Given the description of an element on the screen output the (x, y) to click on. 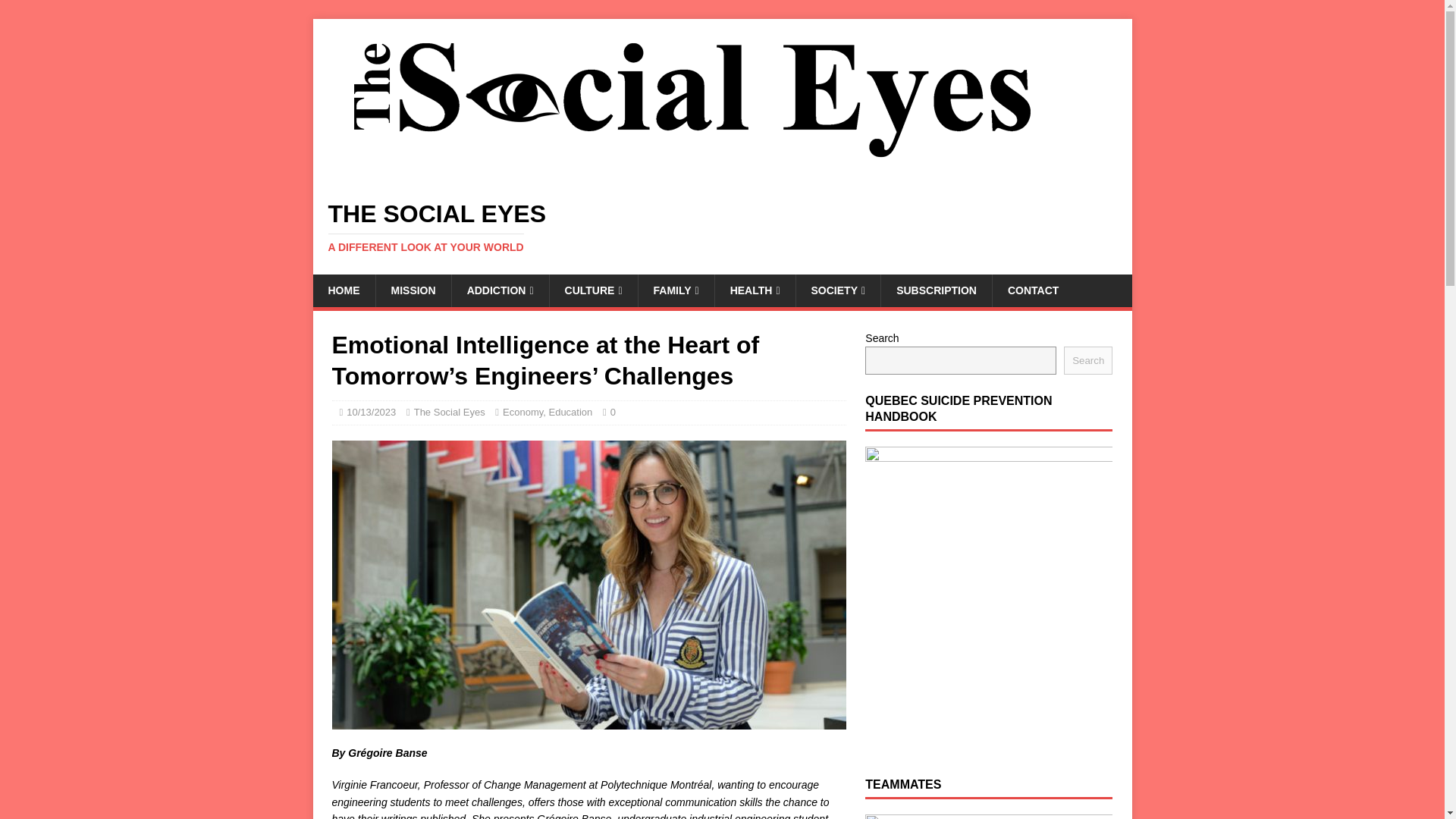
MISSION (411, 290)
HOME (343, 290)
The Social Eyes (721, 227)
ADDICTION (499, 290)
Teammates (988, 816)
FAMILY (721, 227)
The Social Eyes (675, 290)
CULTURE (691, 174)
HEALTH (592, 290)
